Given the description of an element on the screen output the (x, y) to click on. 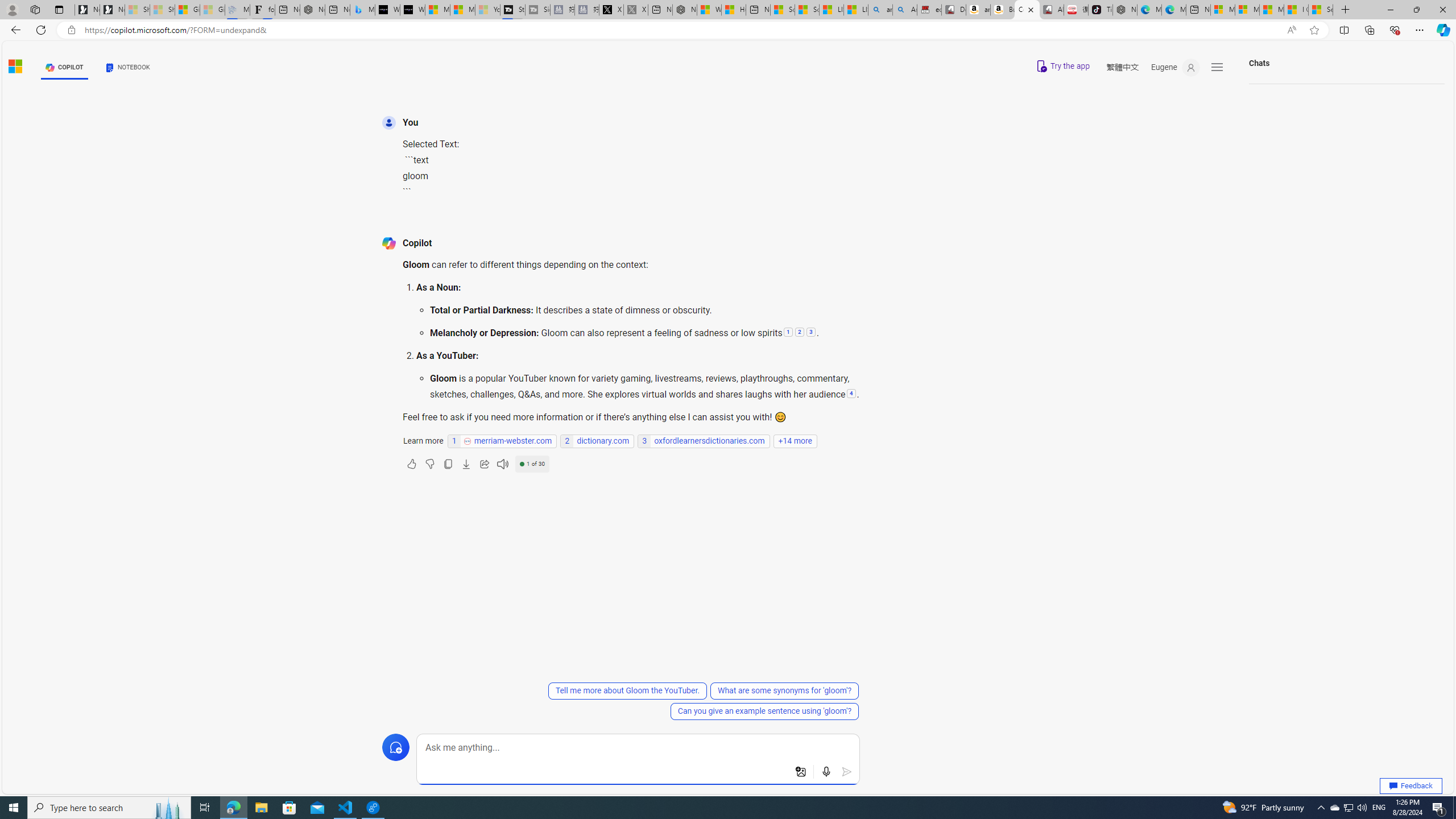
Huge shark washes ashore at New York City beach | Watch (733, 9)
amazon - Search (879, 9)
COPILOT (64, 67)
Tell me more about Gloom the YouTuber. (627, 690)
COPILOT (64, 67)
3: Melancholy or Depression: (810, 332)
